Given the description of an element on the screen output the (x, y) to click on. 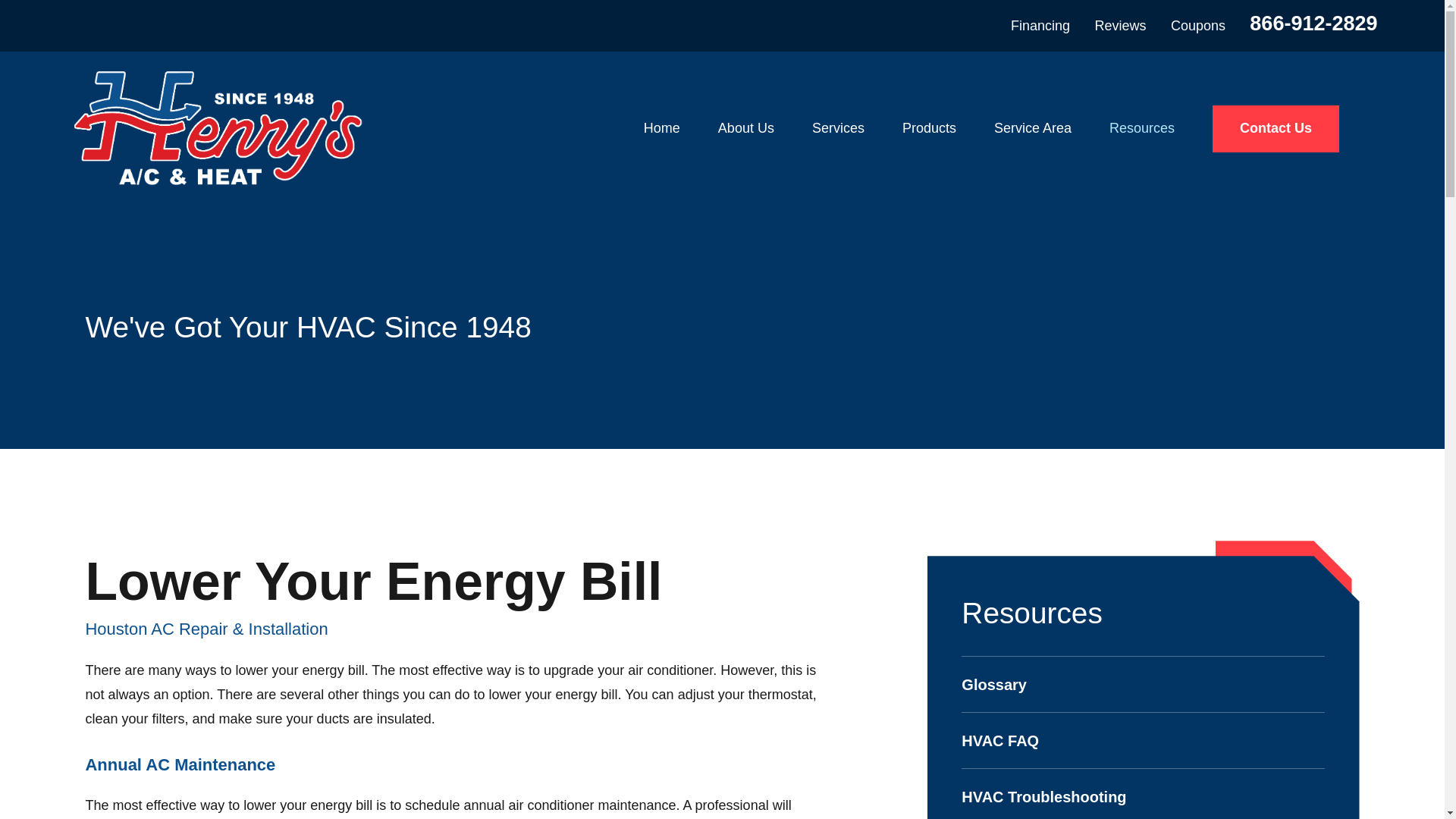
Coupons (1197, 25)
Financing (1040, 25)
Services (838, 128)
866-912-2829 (1313, 23)
About Us (745, 128)
Reviews (1119, 25)
Products (929, 128)
Home (217, 128)
